Given the description of an element on the screen output the (x, y) to click on. 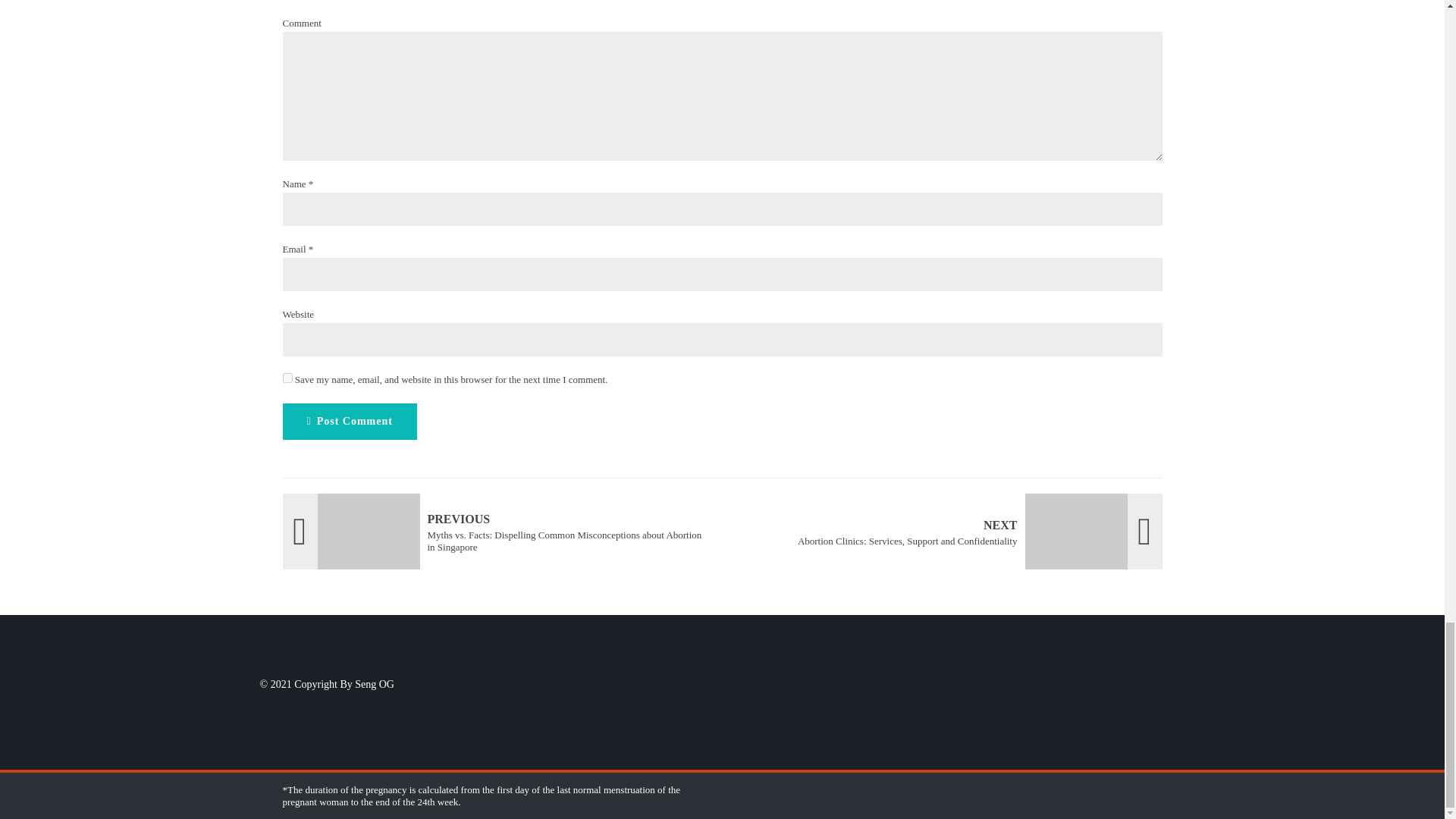
yes (287, 378)
Post Comment (947, 531)
